Given the description of an element on the screen output the (x, y) to click on. 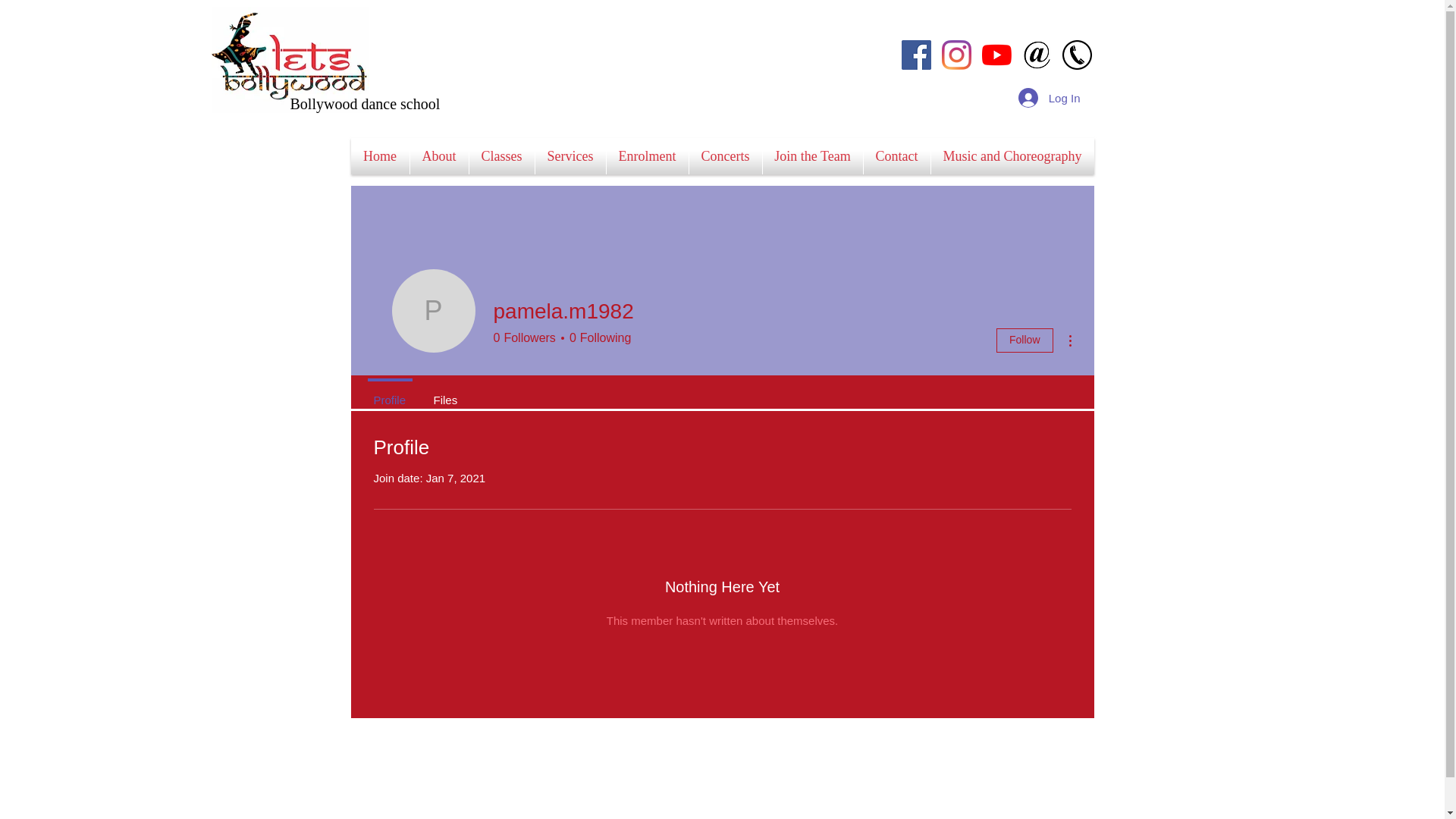
Log In Element type: text (1049, 97)
About Element type: text (438, 156)
Home Element type: text (379, 156)
Join the Team Element type: text (812, 156)
Music and Choreography Element type: text (1012, 156)
Profile Element type: text (389, 393)
Concerts Element type: text (724, 156)
Classes Element type: text (500, 156)
Enrolment Element type: text (647, 156)
Contact Element type: text (895, 156)
Follow Element type: text (1024, 340)
0
Followers Element type: text (523, 337)
Files Element type: text (445, 393)
Services Element type: text (570, 156)
0
Following Element type: text (597, 337)
